Given the description of an element on the screen output the (x, y) to click on. 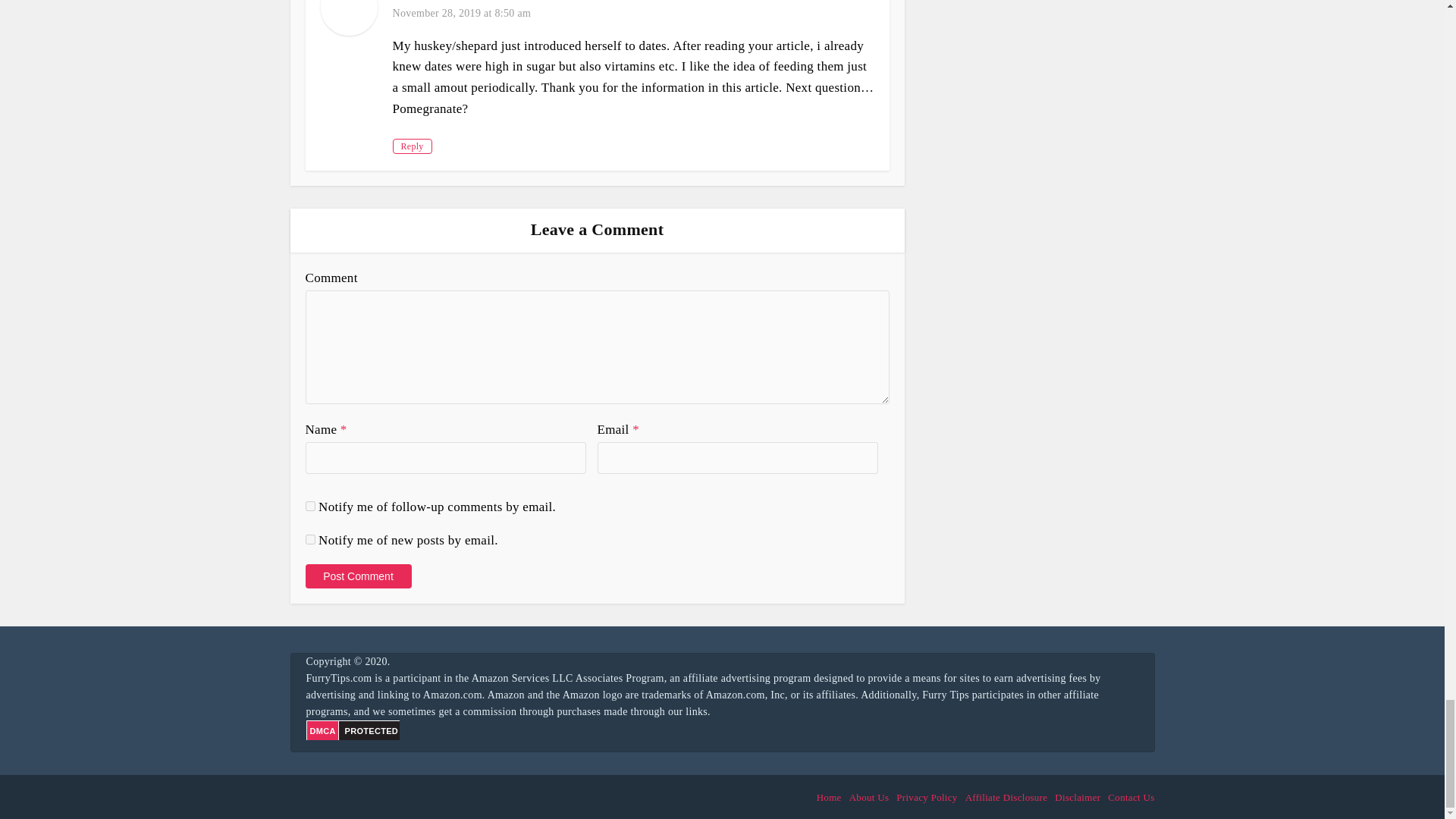
subscribe (309, 539)
DMCA (370, 730)
subscribe (309, 506)
DMCA (321, 730)
Post Comment (357, 576)
